Given the description of an element on the screen output the (x, y) to click on. 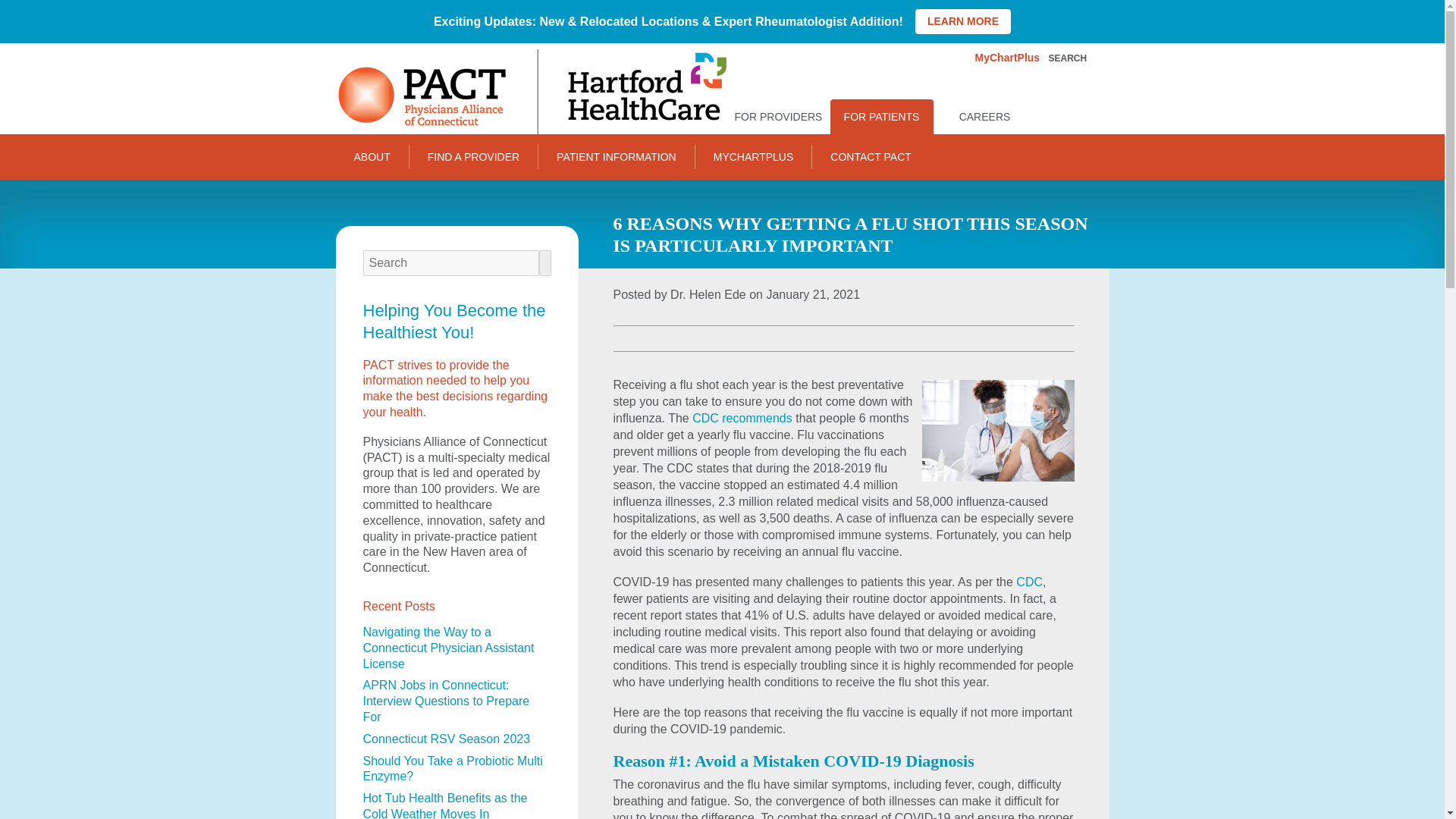
FOR PATIENTS (881, 116)
PATIENT INFORMATION (615, 156)
CAREERS (984, 116)
FOR PROVIDERS (777, 116)
LEARN MORE (962, 21)
FIND A PROVIDER (473, 156)
Search (1072, 58)
Physicians Alliance of Connecticut (529, 91)
MyChartPlus (1008, 57)
ABOUT (370, 156)
